Given the description of an element on the screen output the (x, y) to click on. 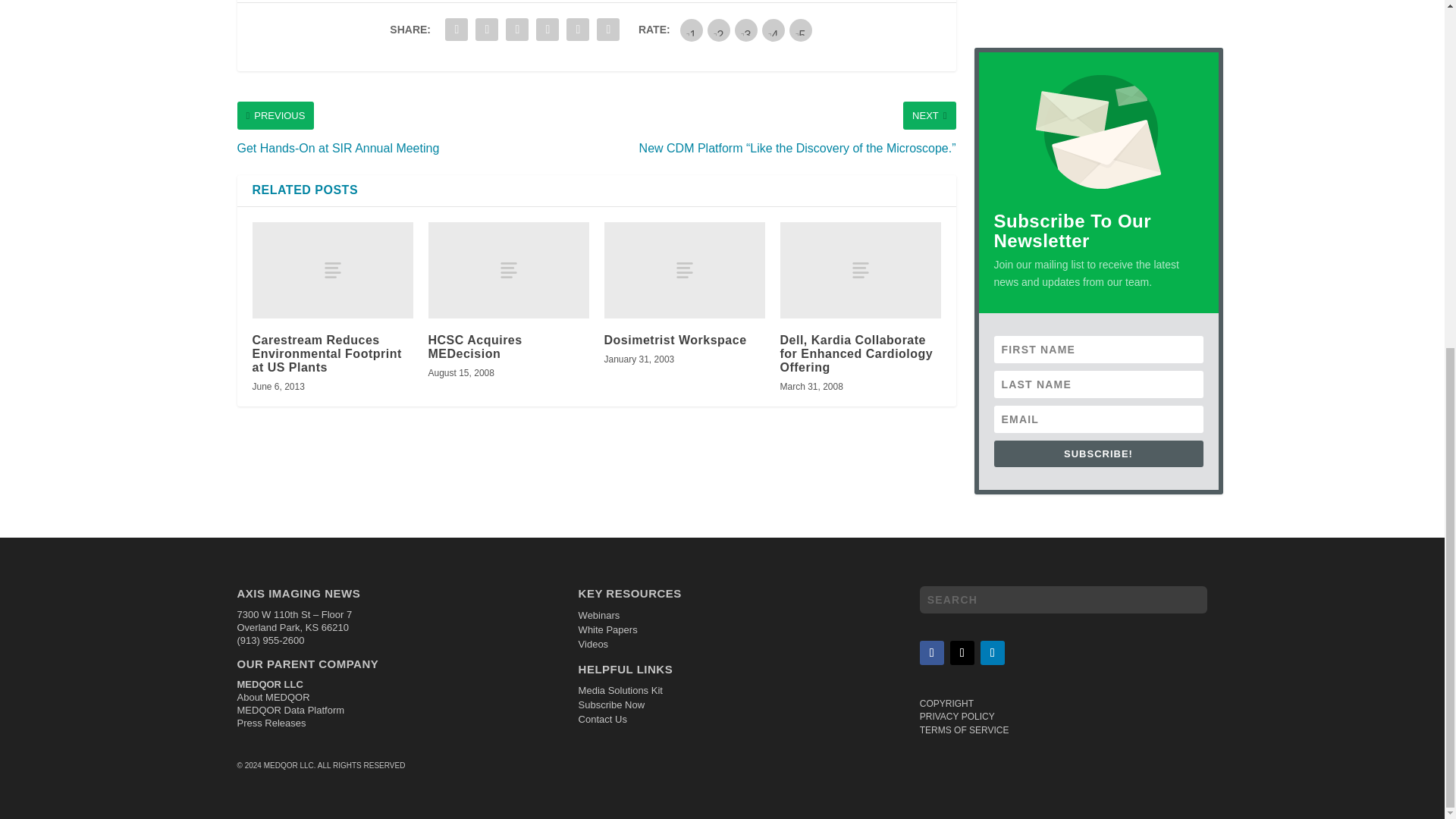
good (772, 29)
Share "Nil Viewers Offer RESTful Integration" via Facebook (456, 29)
regular (746, 29)
Share "Nil Viewers Offer RESTful Integration" via Buffer (547, 29)
poor (718, 29)
Share "Nil Viewers Offer RESTful Integration" via Print (607, 29)
Share "Nil Viewers Offer RESTful Integration" via Email (577, 29)
gorgeous (800, 29)
Carestream Reduces Environmental Footprint at US Plants (331, 269)
Share "Nil Viewers Offer RESTful Integration" via LinkedIn (517, 29)
bad (691, 29)
Share "Nil Viewers Offer RESTful Integration" via Twitter (486, 29)
HCSC Acquires MEDecision (508, 269)
